Given the description of an element on the screen output the (x, y) to click on. 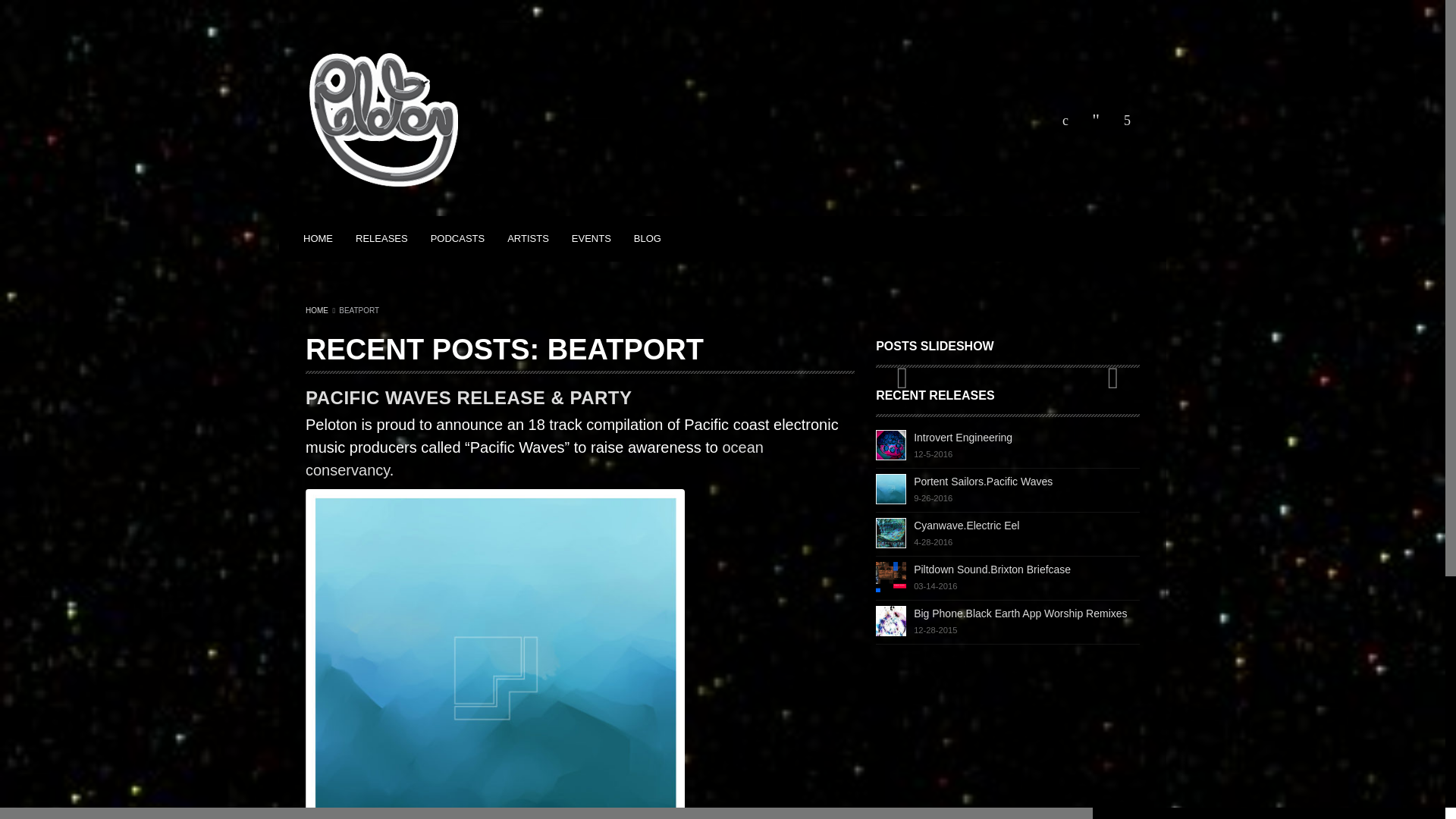
BLOG (647, 238)
EVENTS (591, 238)
HOME (317, 310)
Go to Home. (317, 310)
HOME (1008, 446)
PODCASTS (1008, 621)
ARTISTS (1008, 489)
